Given the description of an element on the screen output the (x, y) to click on. 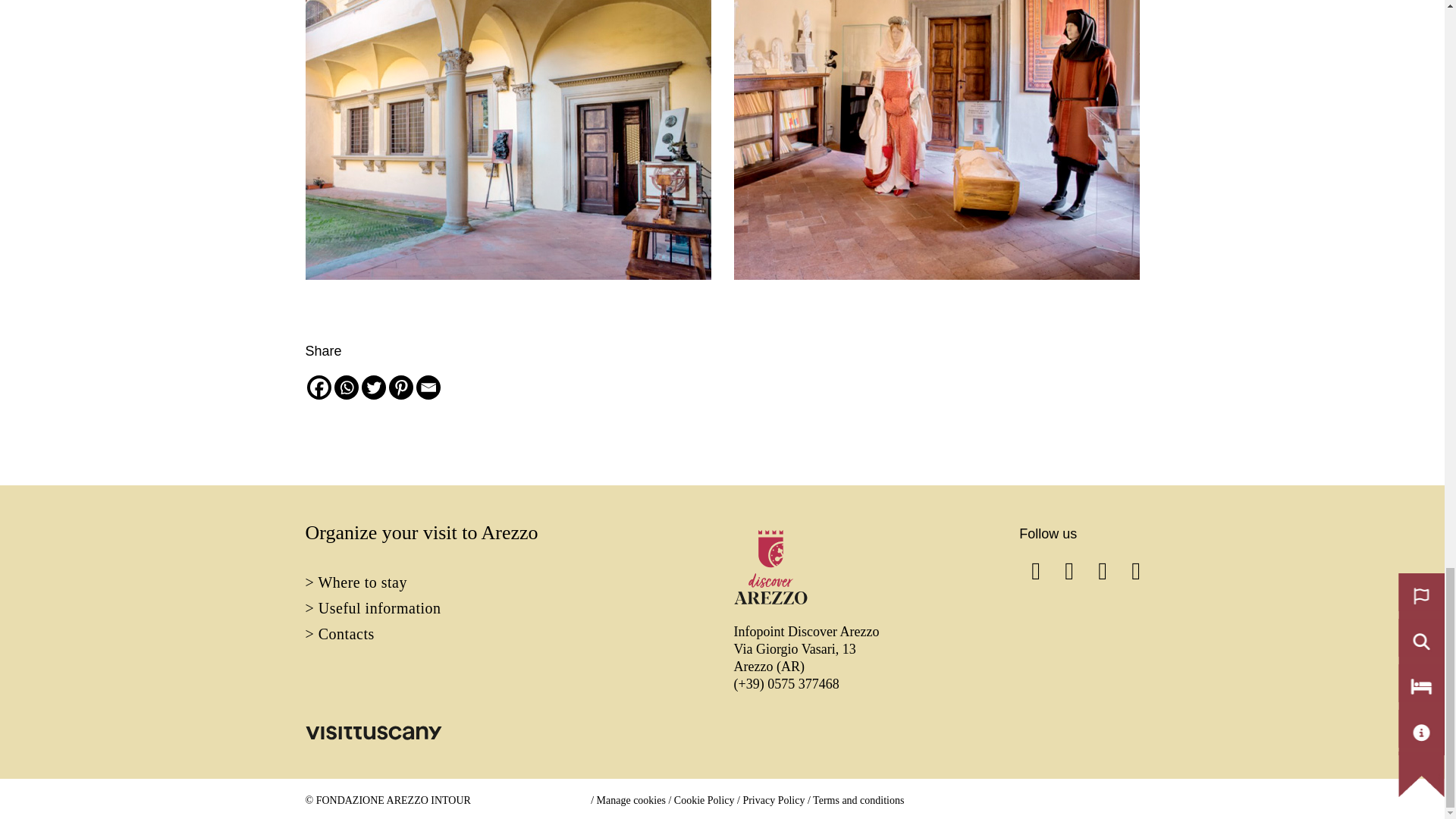
Email (426, 387)
Whatsapp (345, 387)
Twitter (373, 387)
Facebook (317, 387)
Pinterest (400, 387)
